Given the description of an element on the screen output the (x, y) to click on. 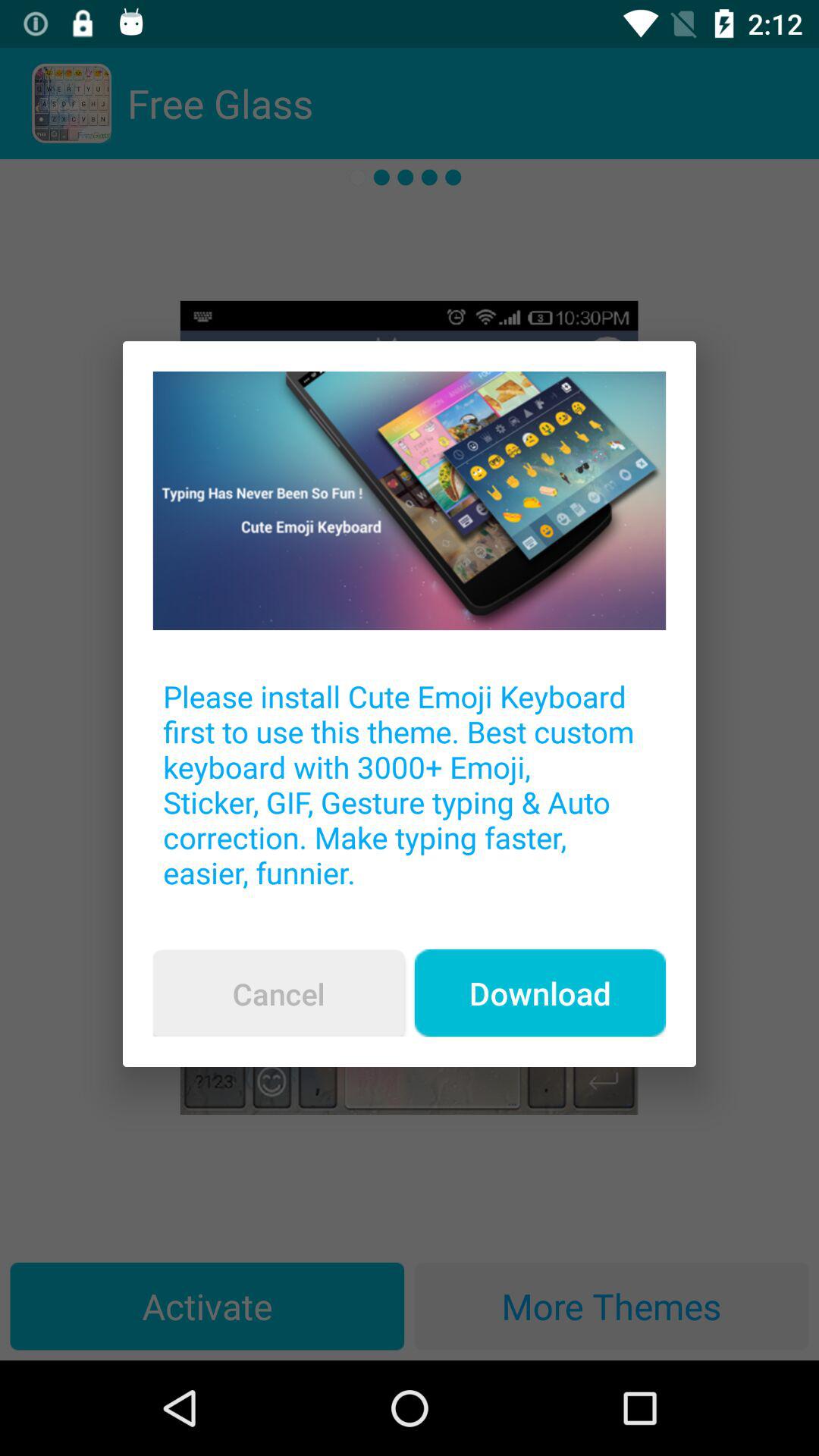
swipe to cancel item (278, 993)
